Given the description of an element on the screen output the (x, y) to click on. 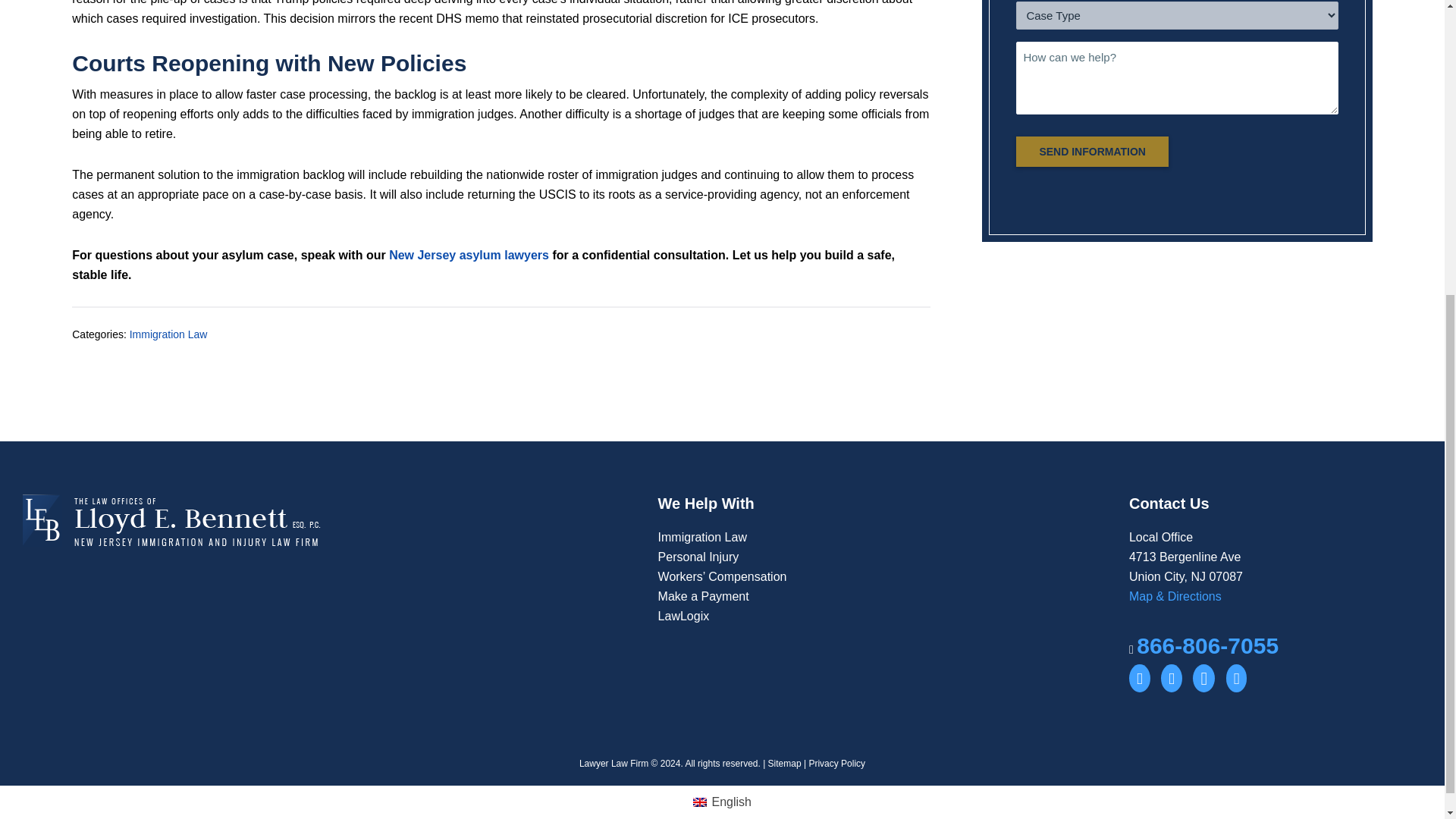
Send Information (1092, 151)
Personal Injury (698, 556)
Immigration Law (702, 536)
Lawyer Law Firm (613, 763)
New Jersey asylum lawyers (468, 254)
Immigration Law (168, 334)
866-806-7055 (1207, 645)
Send Information (1092, 151)
Make a Payment (703, 595)
LawLogix (684, 615)
